Given the description of an element on the screen output the (x, y) to click on. 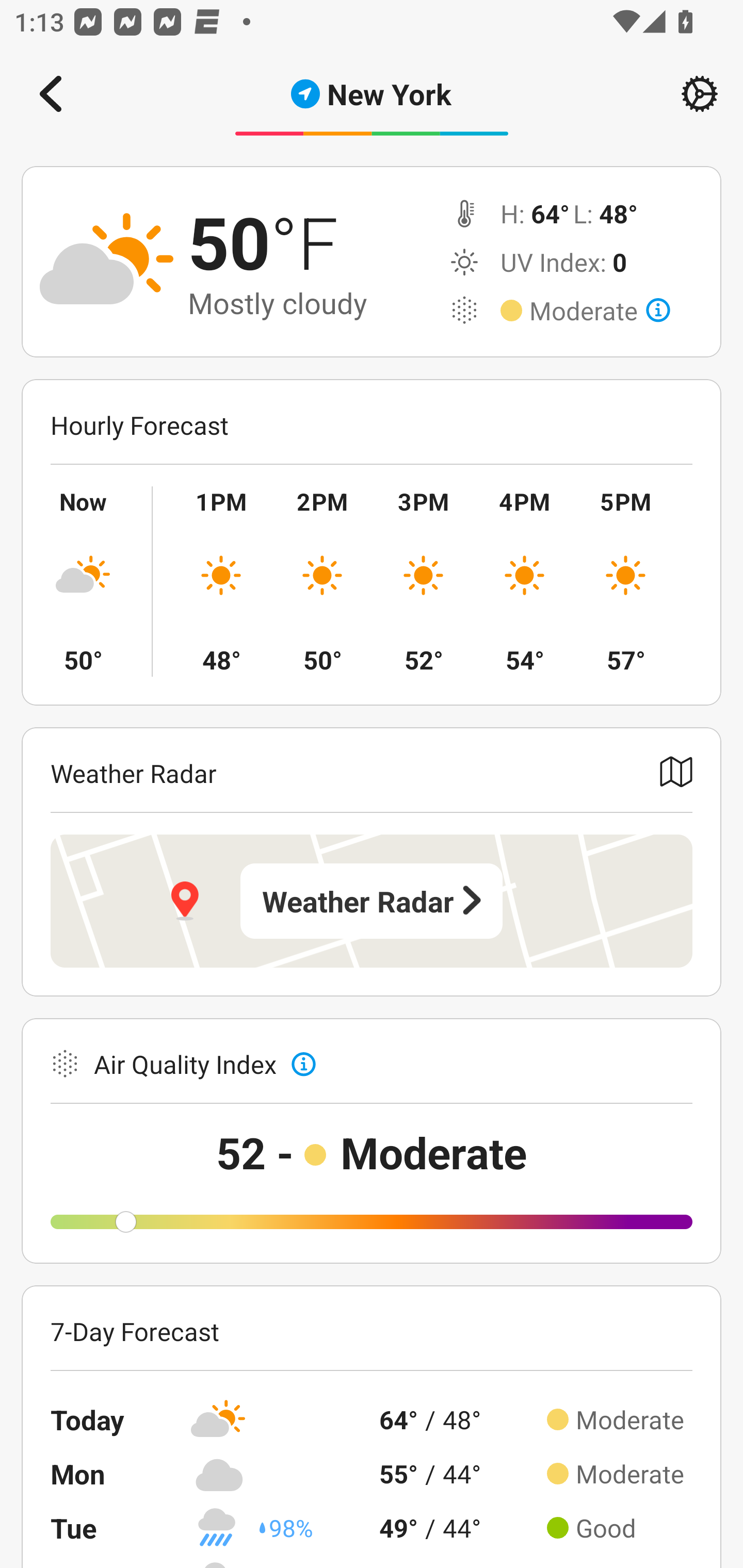
Navigate up (50, 93)
Setting (699, 93)
Moderate (599, 310)
Weather Radar (371, 900)
